Given the description of an element on the screen output the (x, y) to click on. 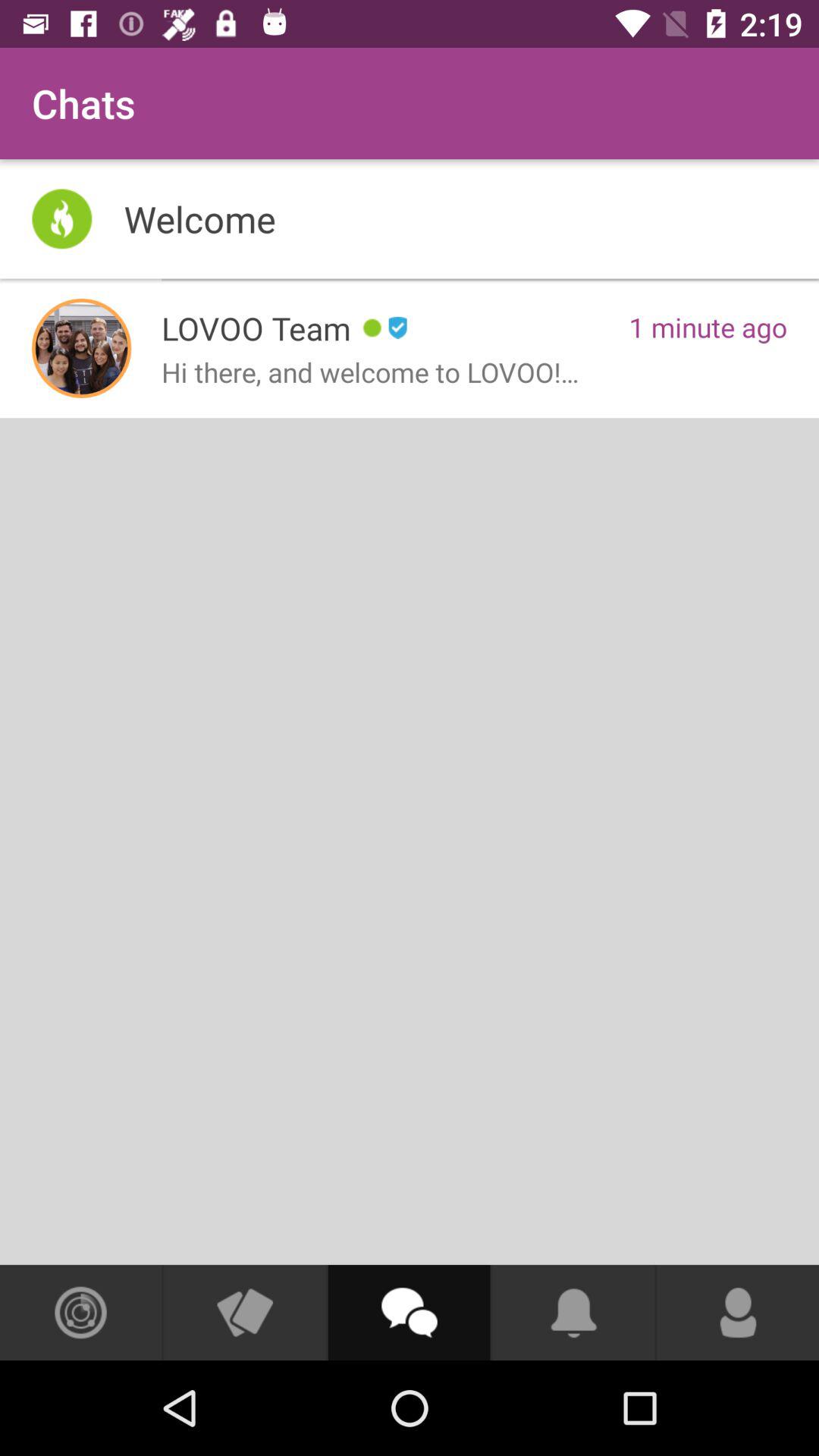
see lovoo team info (81, 348)
